Given the description of an element on the screen output the (x, y) to click on. 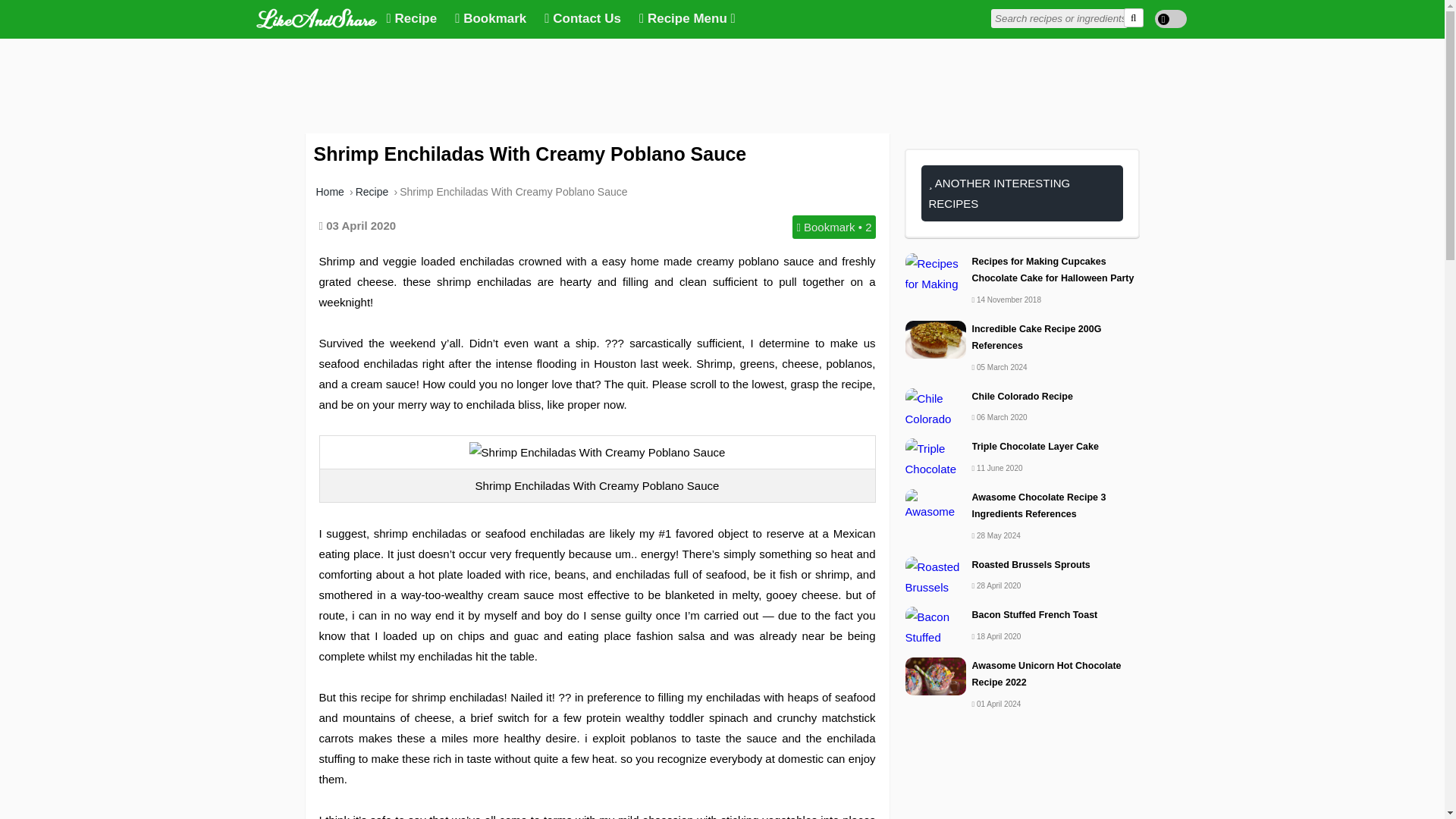
Chile Colorado Recipe (1021, 396)
LikeAndShare Logo (316, 17)
Home (329, 191)
Triple Chocolate Layer Cake (1021, 446)
Roasted Brussels Sprouts (1021, 565)
Awasome Chocolate Recipe 3 Ingredients References (1021, 505)
Shrimp Enchiladas With Creamy Poblano Sauce (596, 452)
Recipe Menu (687, 19)
Contact Us (582, 19)
Bookmark (490, 19)
Incredible Cake Recipe 200G References (1021, 337)
Shrimp Enchiladas With Creamy Poblano Sauce (512, 191)
Recipe (371, 191)
Awasome Unicorn Hot Chocolate Recipe 2022 (1021, 674)
